Given the description of an element on the screen output the (x, y) to click on. 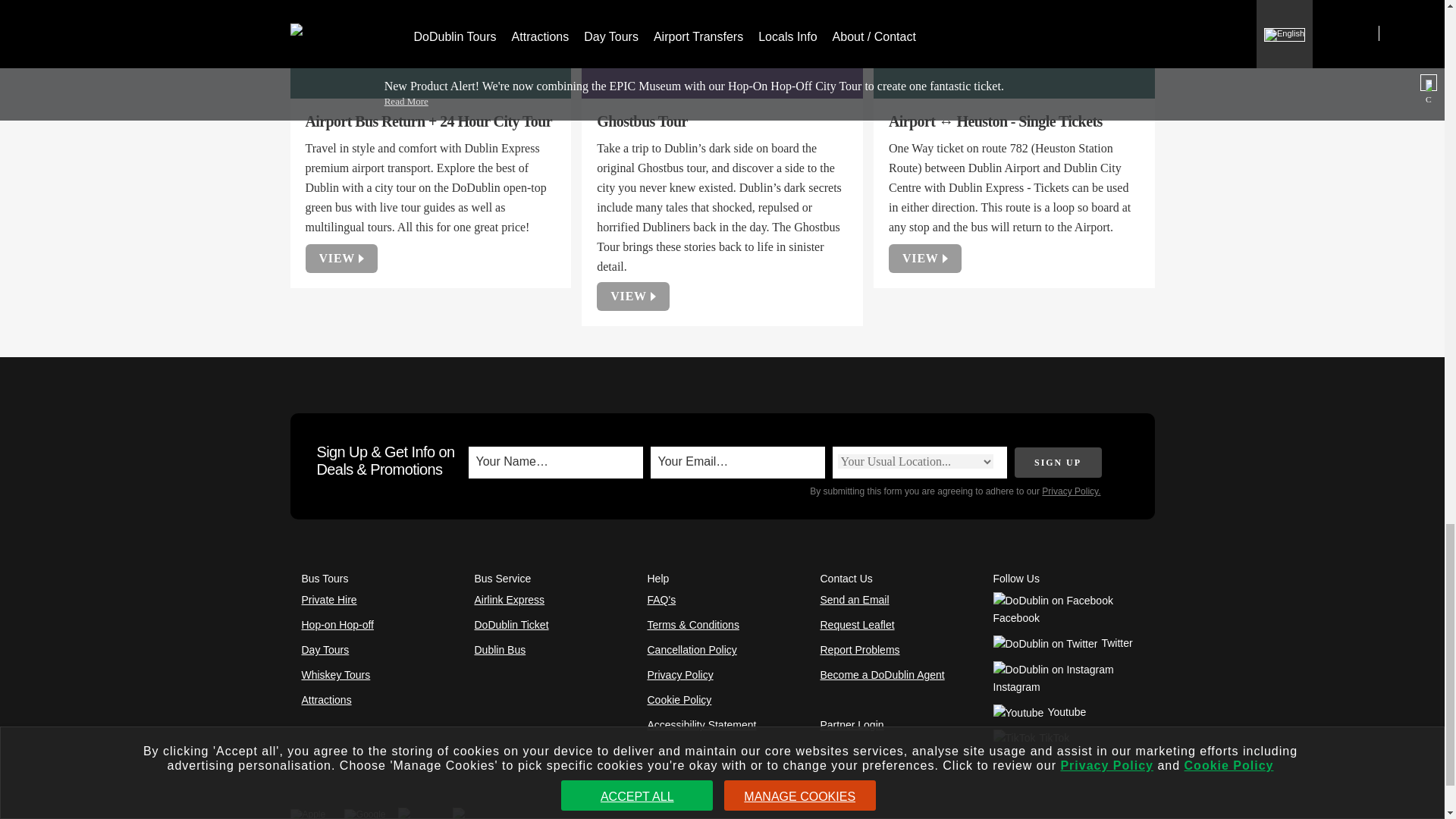
ghostbus (721, 47)
St. Stephen's Green Stop (429, 47)
opens new window (1054, 608)
opens Youtube in a new window (1039, 711)
Newsletter Signup - Location (914, 461)
Dublin Express in Dublin Airport (1013, 47)
Sign Up (1058, 462)
Newsletter Signup - Name (553, 462)
opens new window (1062, 643)
opens new window (1055, 677)
